Given the description of an element on the screen output the (x, y) to click on. 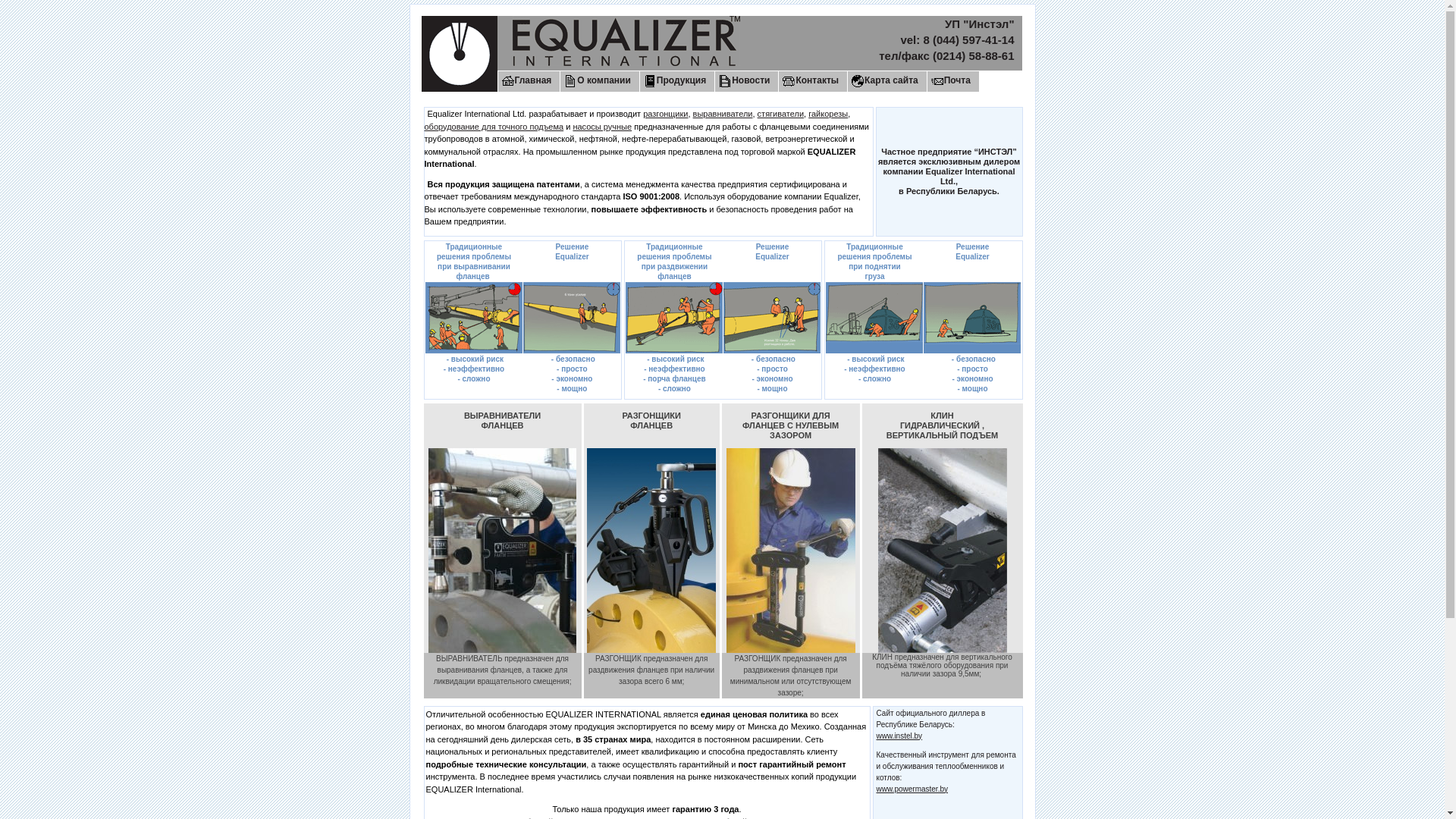
www.instel.by Element type: text (899, 735)
www.powermaster.by Element type: text (911, 788)
